Given the description of an element on the screen output the (x, y) to click on. 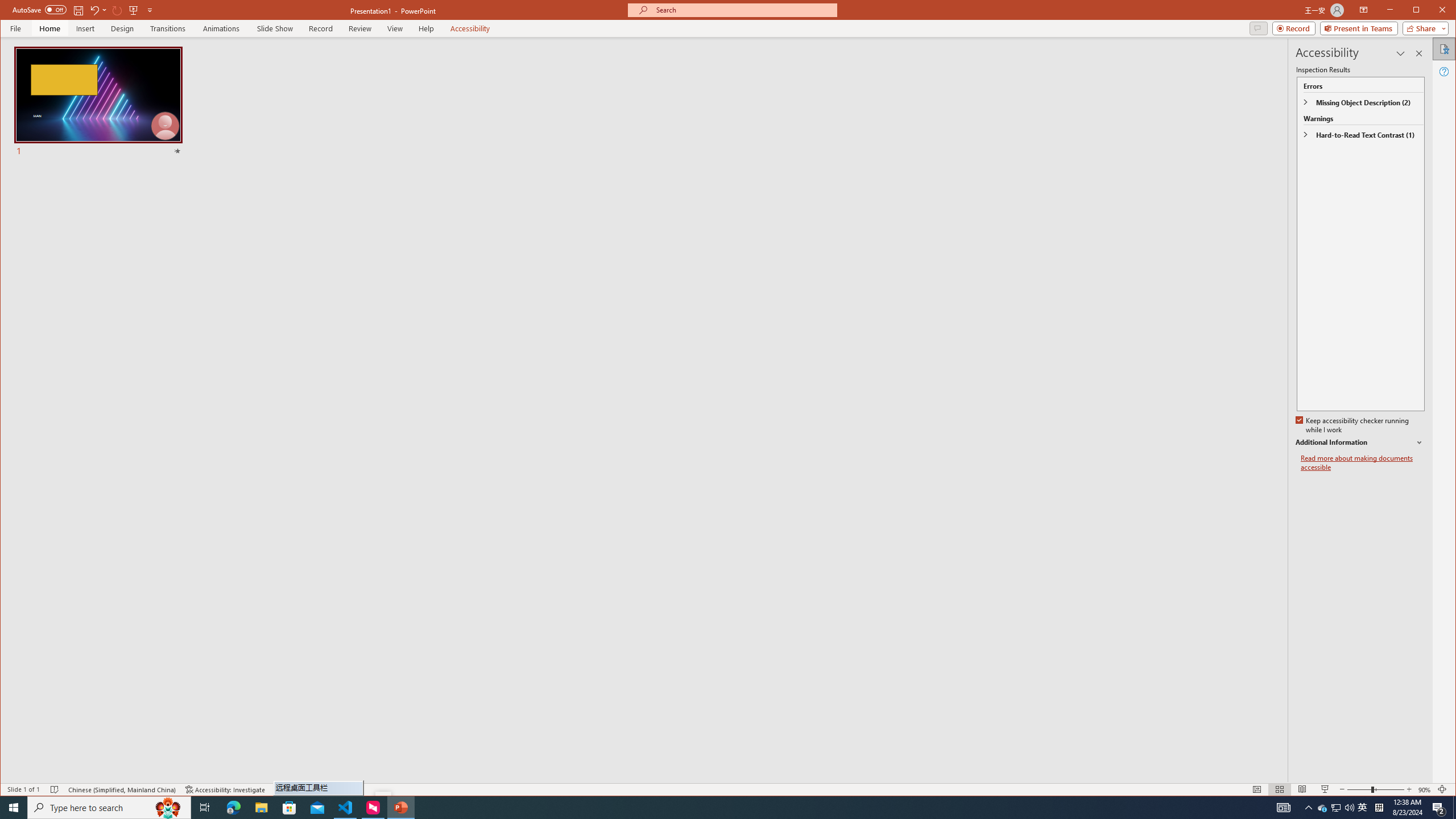
Running applications (700, 807)
